Given the description of an element on the screen output the (x, y) to click on. 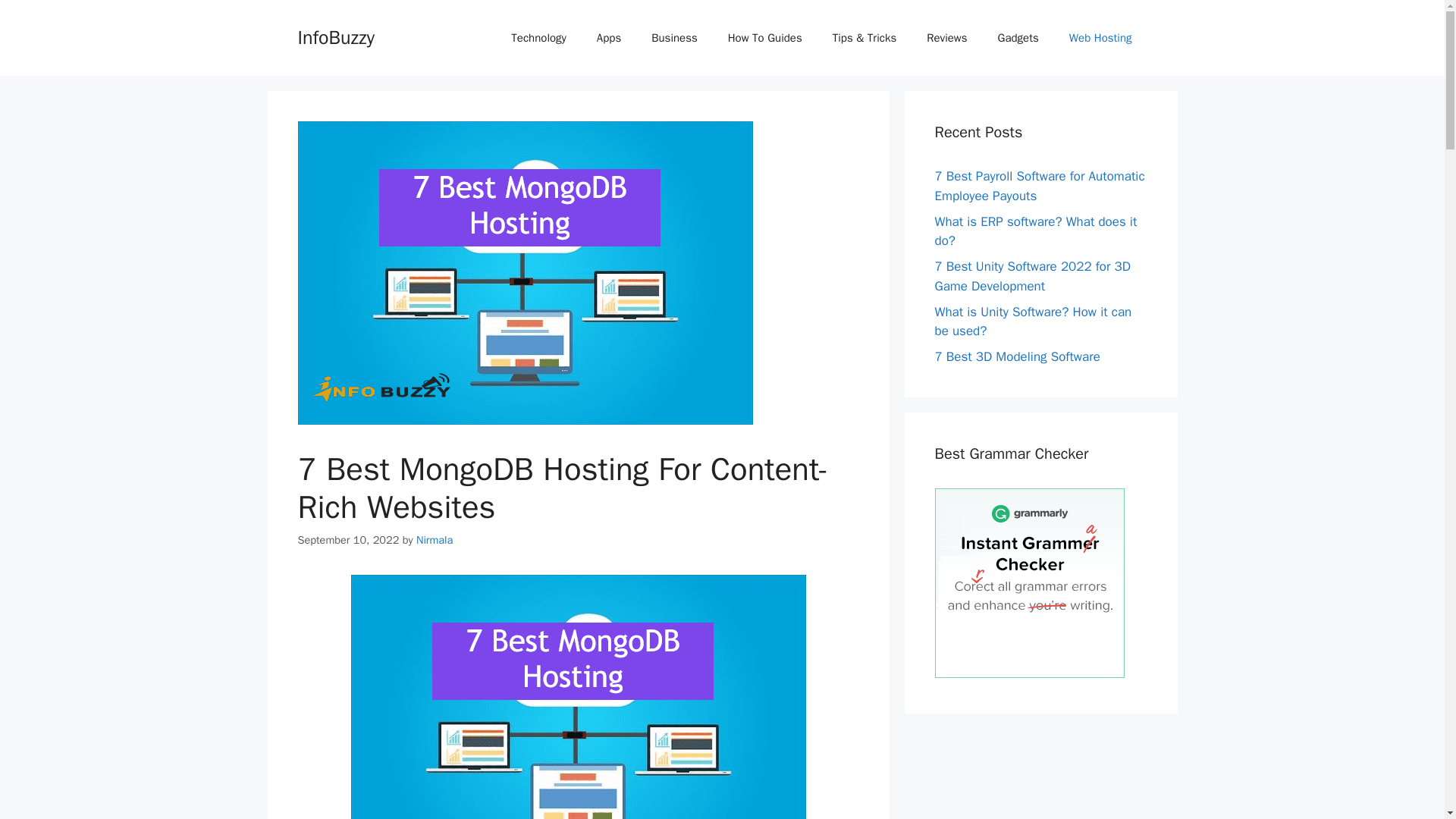
Web Hosting (1100, 37)
Reviews (946, 37)
7 Best 3D Modeling Software (1016, 356)
Business (674, 37)
7 Best Payroll Software for Automatic Employee Payouts (1039, 185)
Nirmala (434, 540)
What is Unity Software? How it can be used? (1032, 321)
What is ERP software? What does it do? (1035, 231)
How To Guides (764, 37)
7 Best Unity Software 2022 for 3D Game Development (1031, 276)
Apps (608, 37)
InfoBuzzy (335, 37)
View all posts by Nirmala (434, 540)
Technology (538, 37)
Gadgets (1018, 37)
